Given the description of an element on the screen output the (x, y) to click on. 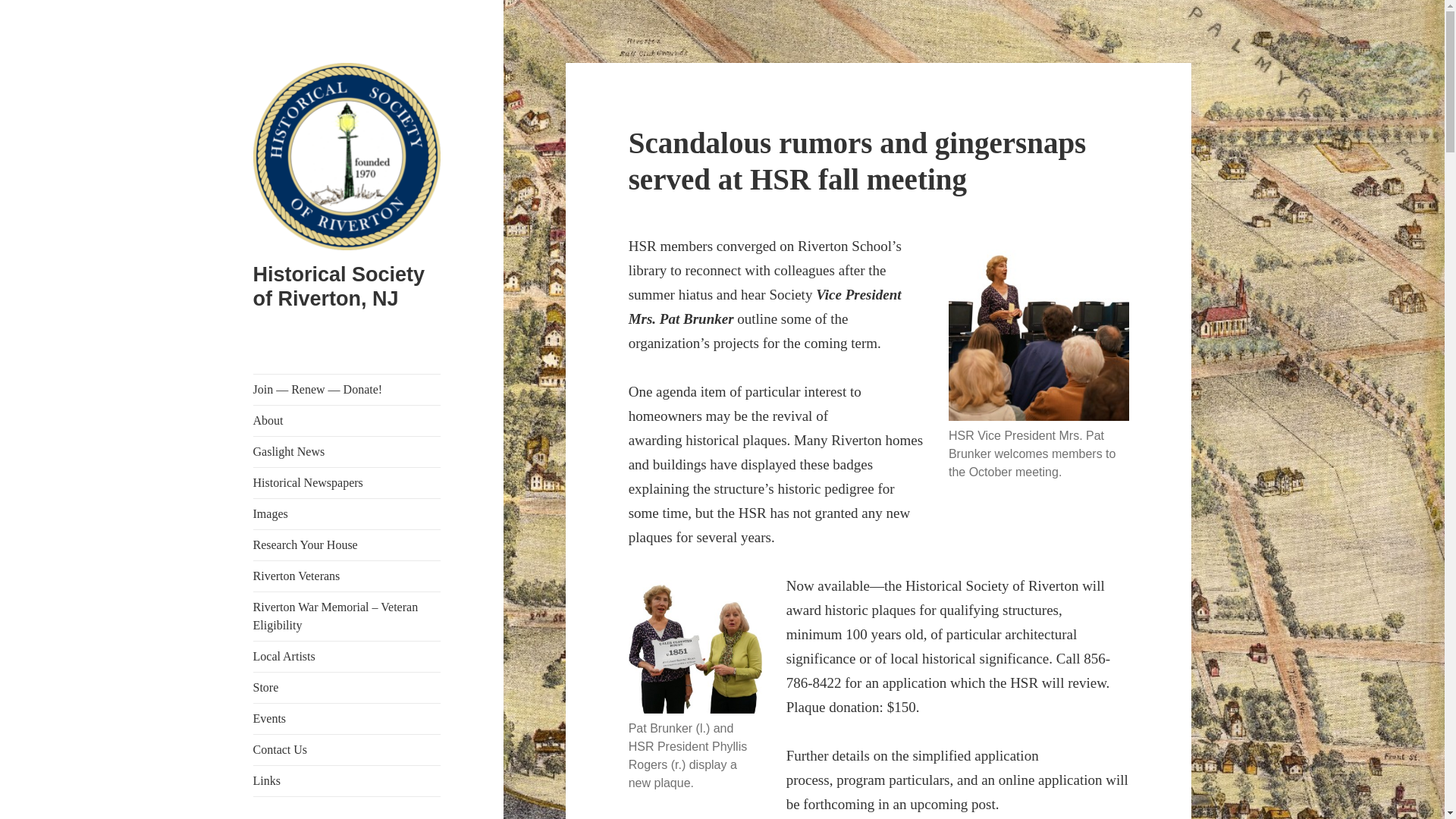
Historical Society of Riverton, NJ (339, 286)
Links (347, 780)
Riverton Veterans (347, 576)
About (347, 420)
Store (347, 687)
Contact Us (347, 749)
Events (347, 718)
Research Your House (347, 544)
Historical Newspapers (347, 482)
Local Artists (347, 656)
Gaslight News (347, 451)
Images (347, 513)
